Given the description of an element on the screen output the (x, y) to click on. 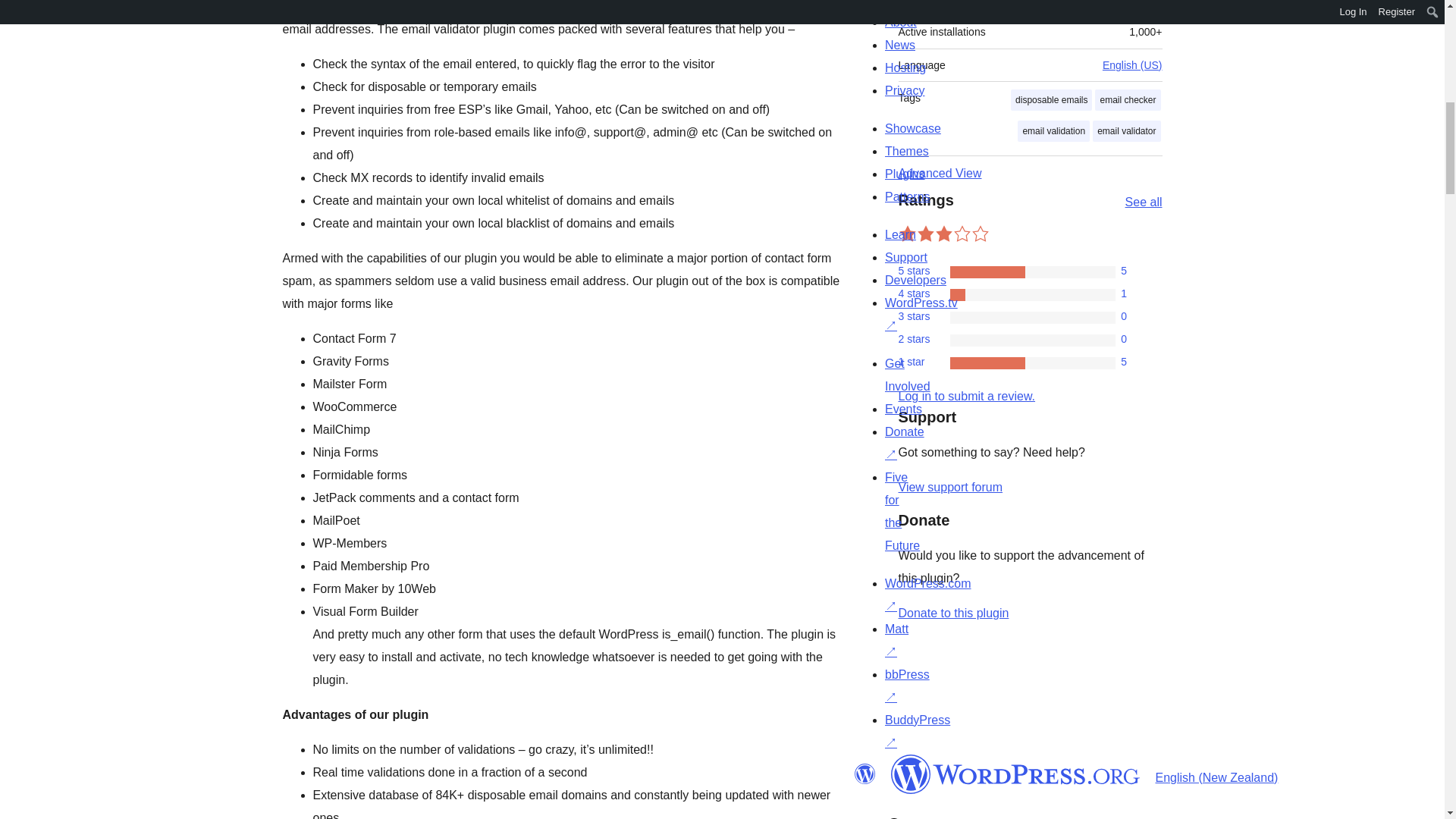
WordPress.org (864, 773)
validates email addresses (352, 6)
Log in to WordPress.org (966, 395)
WordPress.org (1014, 773)
